Given the description of an element on the screen output the (x, y) to click on. 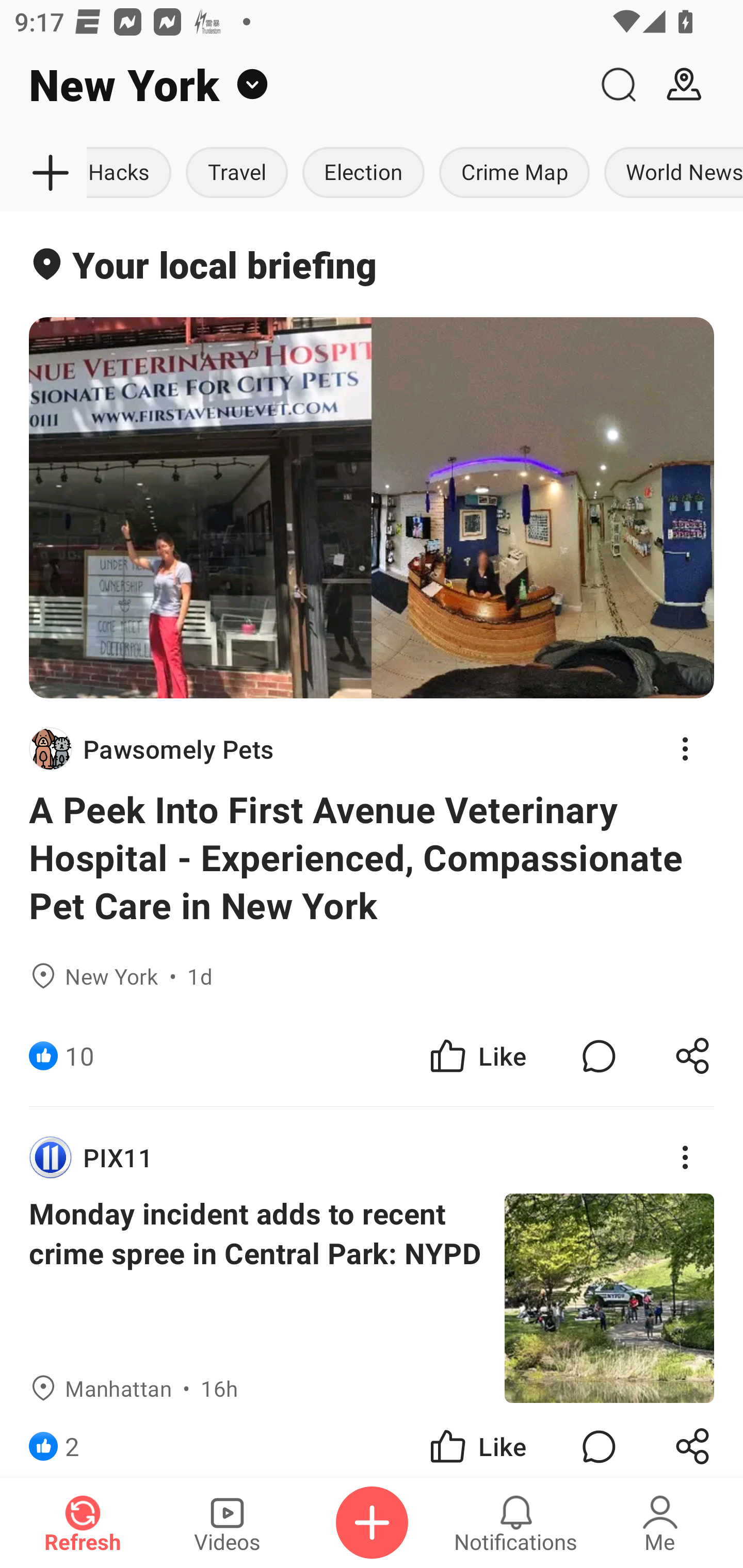
New York (292, 84)
Life Hacks (132, 172)
Travel (236, 172)
Election (362, 172)
Crime Map (513, 172)
World News (669, 172)
10 (79, 1055)
Like (476, 1055)
2 (72, 1440)
Like (476, 1440)
Videos (227, 1522)
Notifications (516, 1522)
Me (659, 1522)
